Given the description of an element on the screen output the (x, y) to click on. 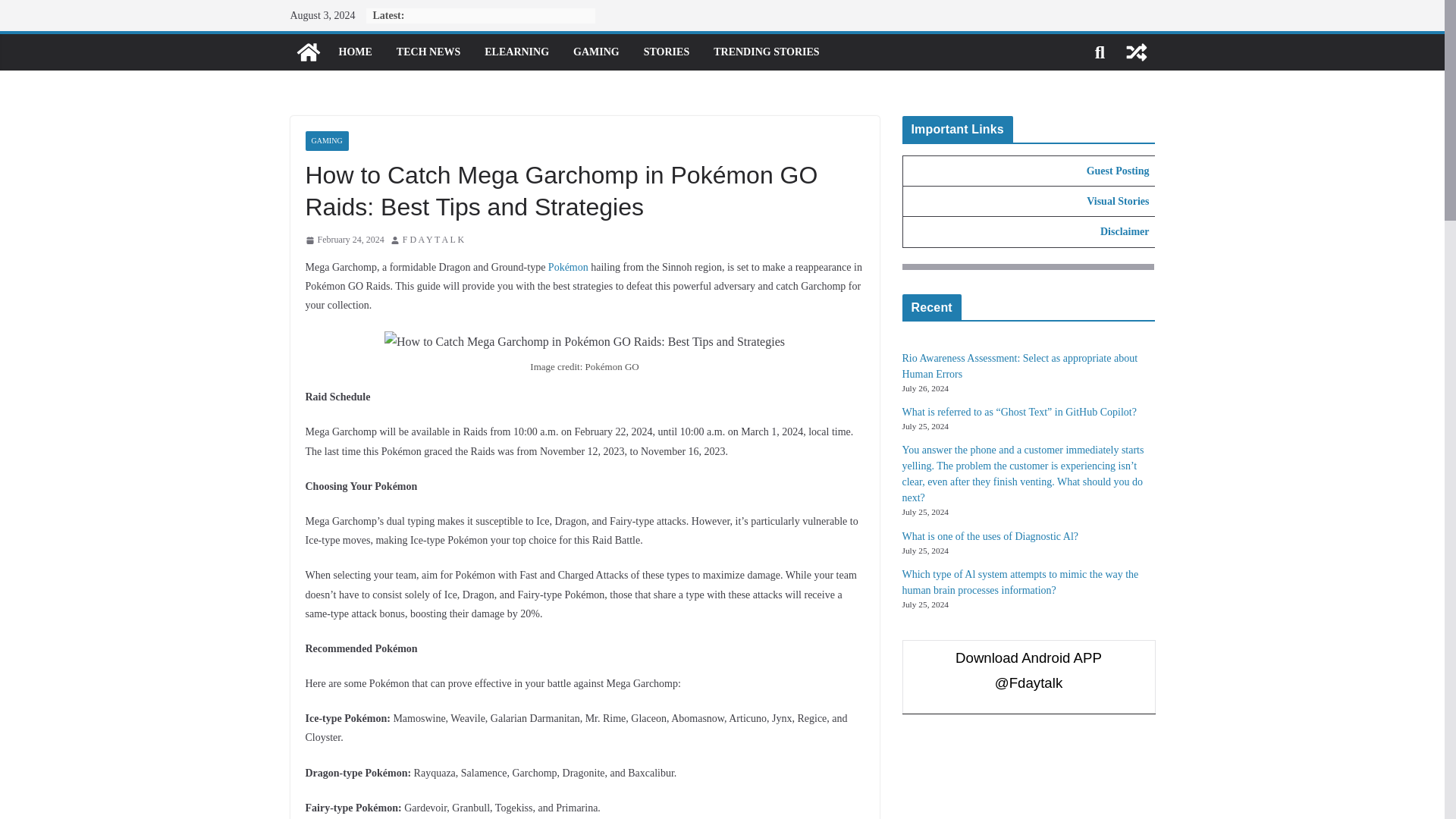
F D A Y T A L K (433, 239)
GAMING (325, 140)
HOME (354, 52)
Visual Stories (1117, 201)
View a random post (1136, 52)
4:39 pm (344, 239)
fdaytalk.com (307, 52)
TRENDING STORIES (765, 52)
GAMING (596, 52)
TECH NEWS (428, 52)
Disclaimer (1125, 231)
ELEARNING (516, 52)
F D A Y T A L K (433, 239)
Skip to content (59, 20)
